Given the description of an element on the screen output the (x, y) to click on. 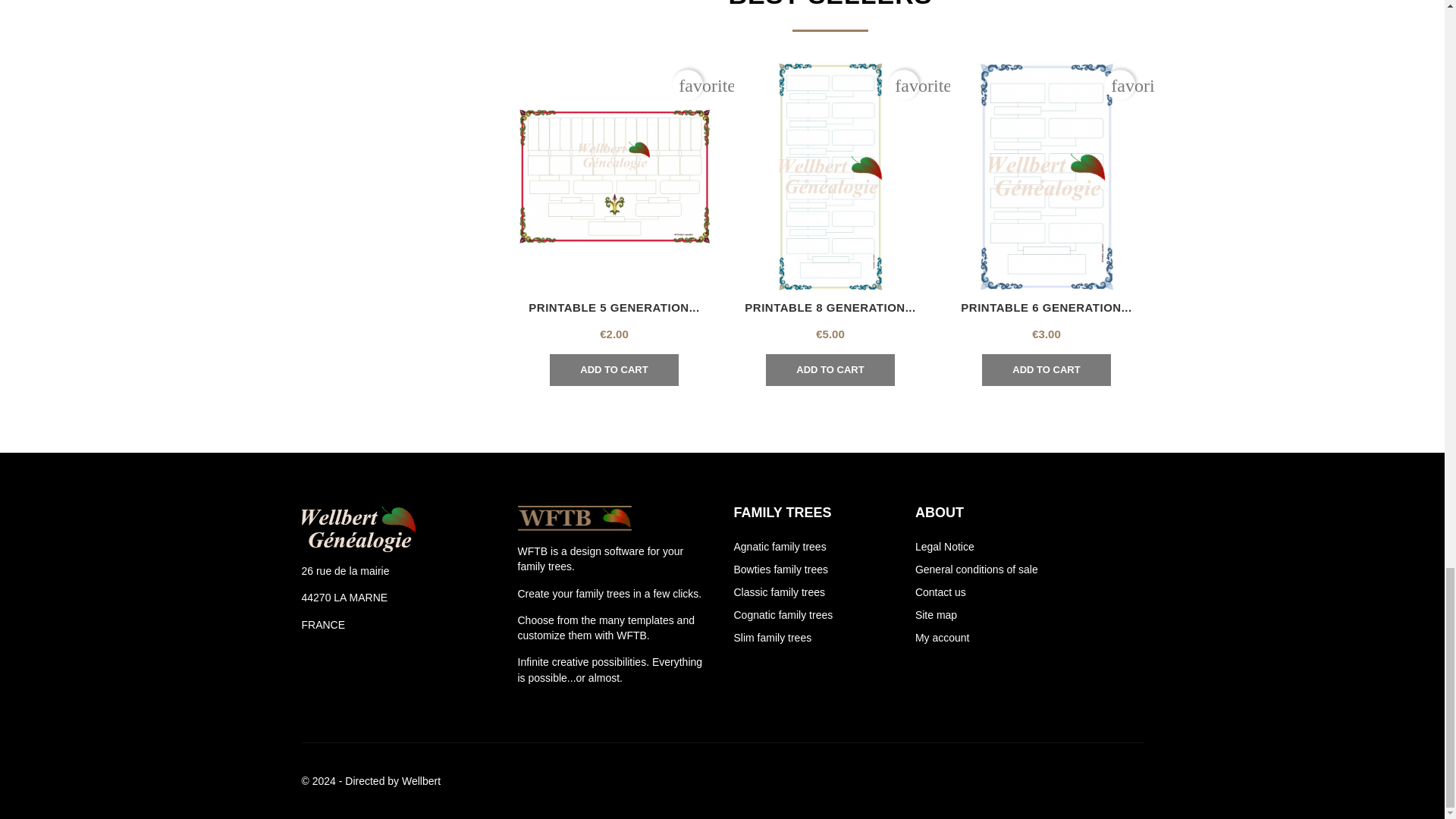
Use the form to contact us (940, 592)
General conditions of sale (976, 569)
Are you lost? Find what you're looking for (935, 614)
Legal Notice (944, 546)
